Given the description of an element on the screen output the (x, y) to click on. 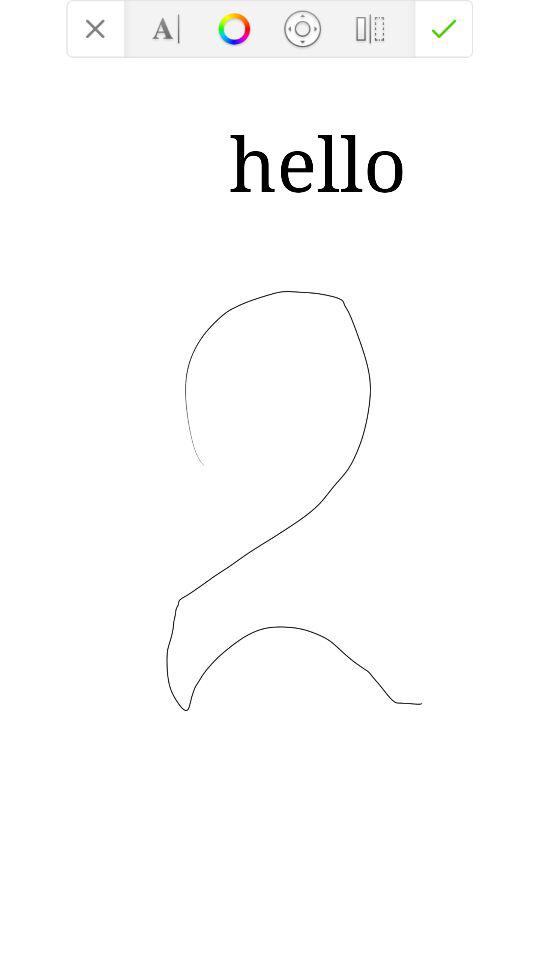
check mark (444, 28)
